Given the description of an element on the screen output the (x, y) to click on. 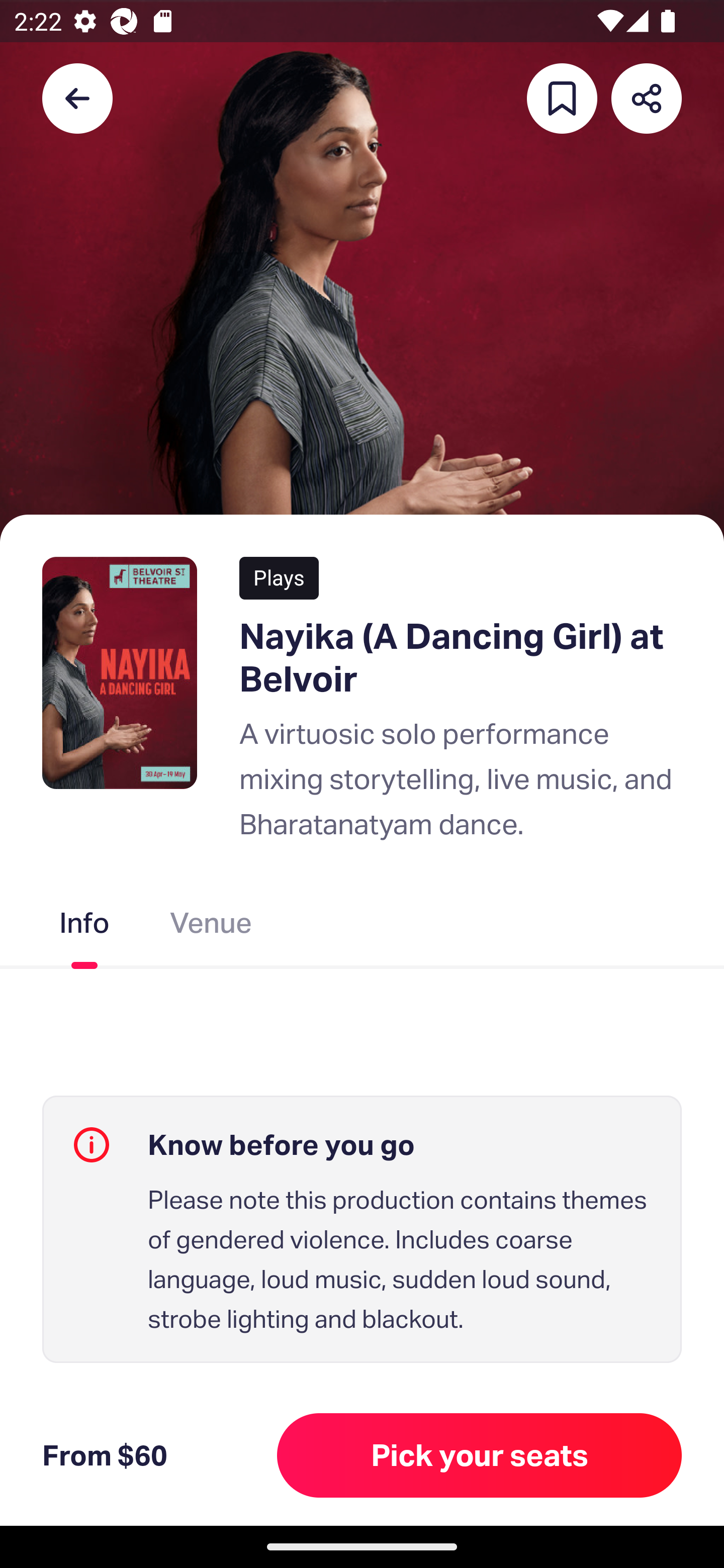
Venue (210, 926)
Pick your seats (479, 1454)
